Given the description of an element on the screen output the (x, y) to click on. 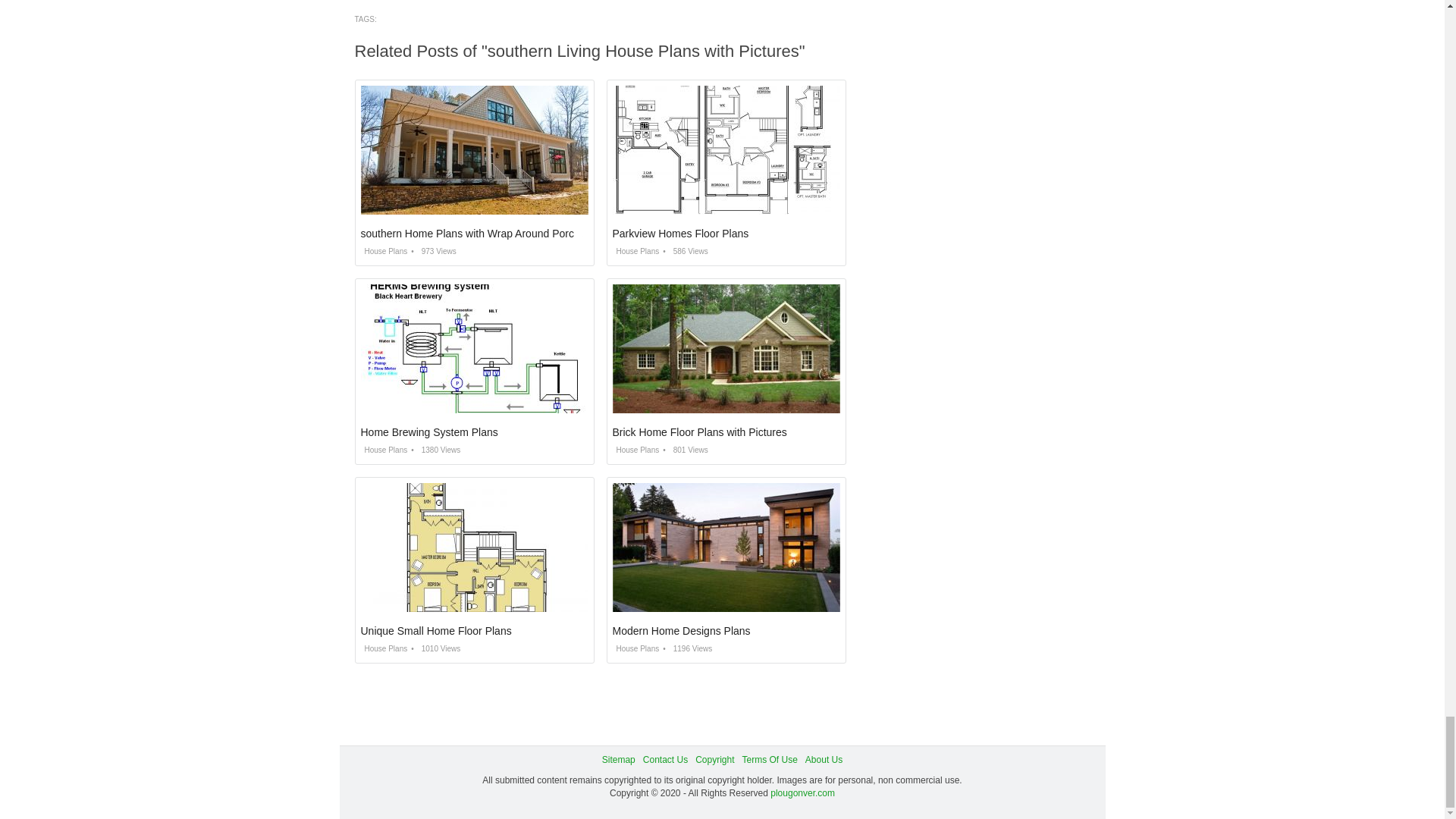
House Plans (635, 251)
southern Home Plans with Wrap Around Porches (476, 233)
Home Brewing System Plans (429, 431)
House Plans (384, 449)
Parkview Homes Floor Plans (680, 233)
Brick Home Floor Plans with Pictures (699, 431)
House Plans (384, 251)
